Given the description of an element on the screen output the (x, y) to click on. 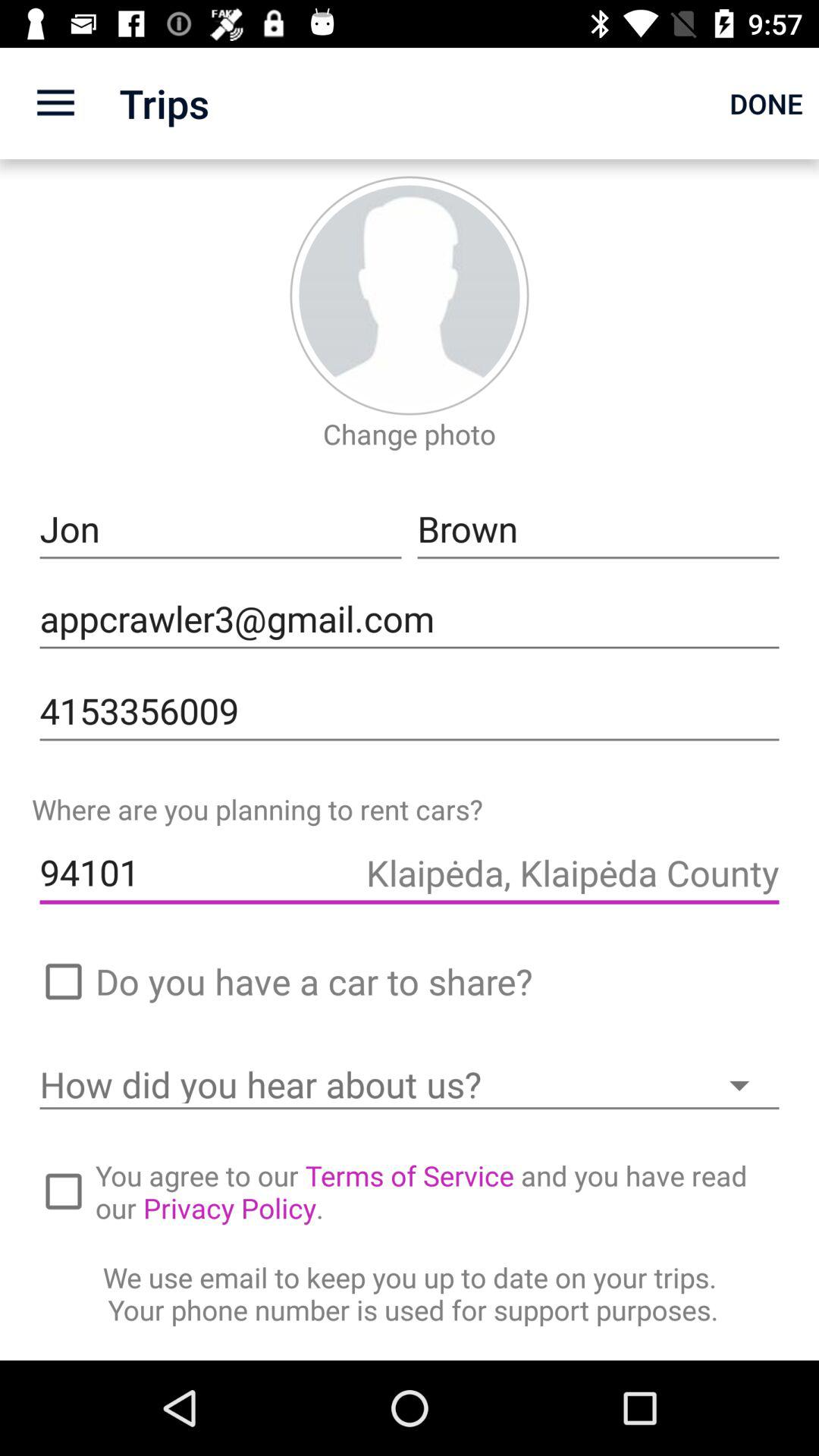
scroll to the 4153356009 (409, 711)
